Given the description of an element on the screen output the (x, y) to click on. 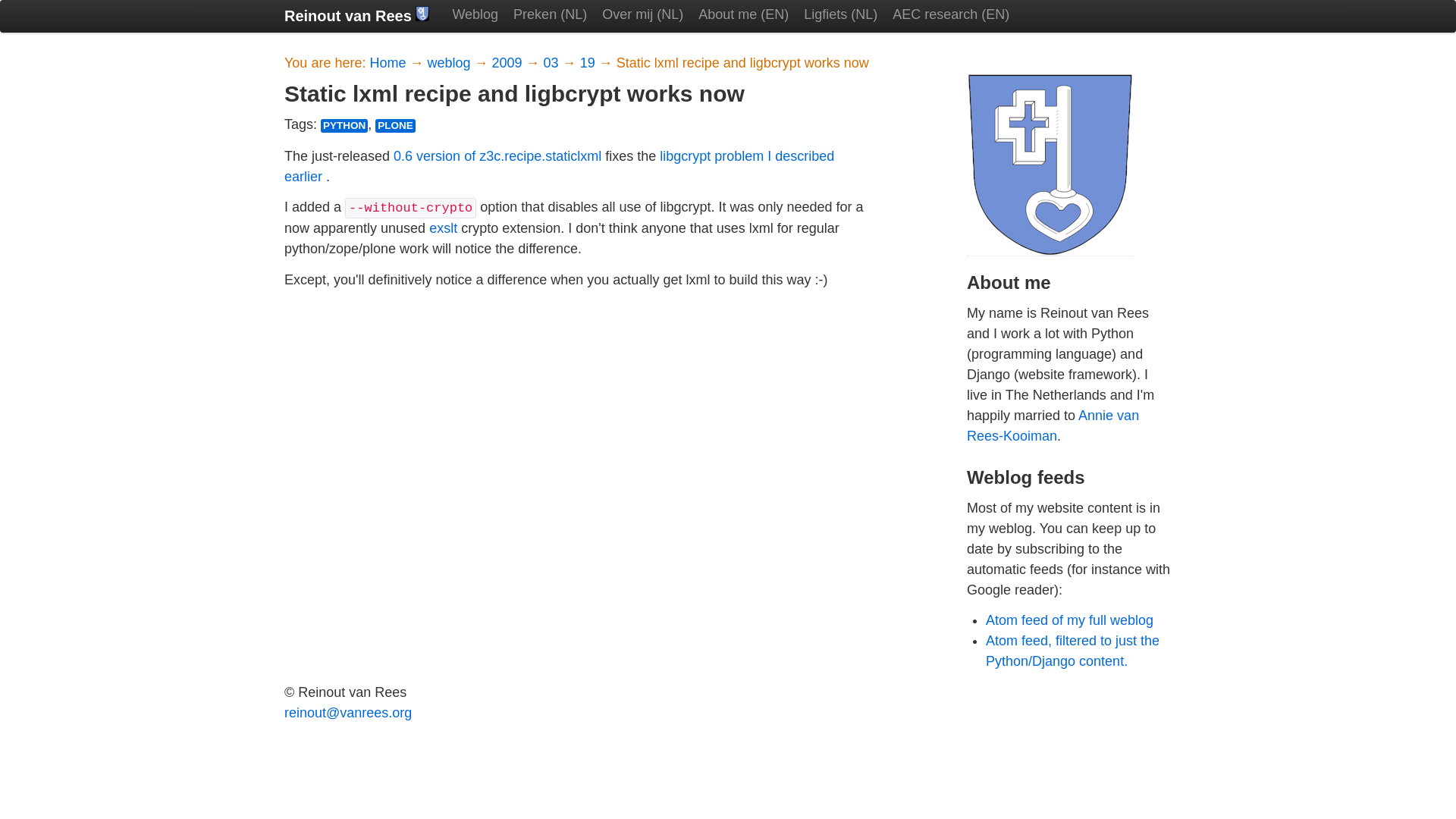
libgcrypt problem I described earlier (558, 166)
Atom feed of my full weblog (1069, 620)
19 (588, 62)
03 (552, 62)
PYTHON (344, 125)
Weblog (474, 15)
0.6 version of z3c.recipe.staticlxml (497, 155)
Annie van Rees-Kooiman (1052, 425)
Reinout van Rees (356, 16)
exslt (443, 227)
2009 (508, 62)
weblog (450, 62)
PLONE (394, 125)
Home (389, 62)
